Given the description of an element on the screen output the (x, y) to click on. 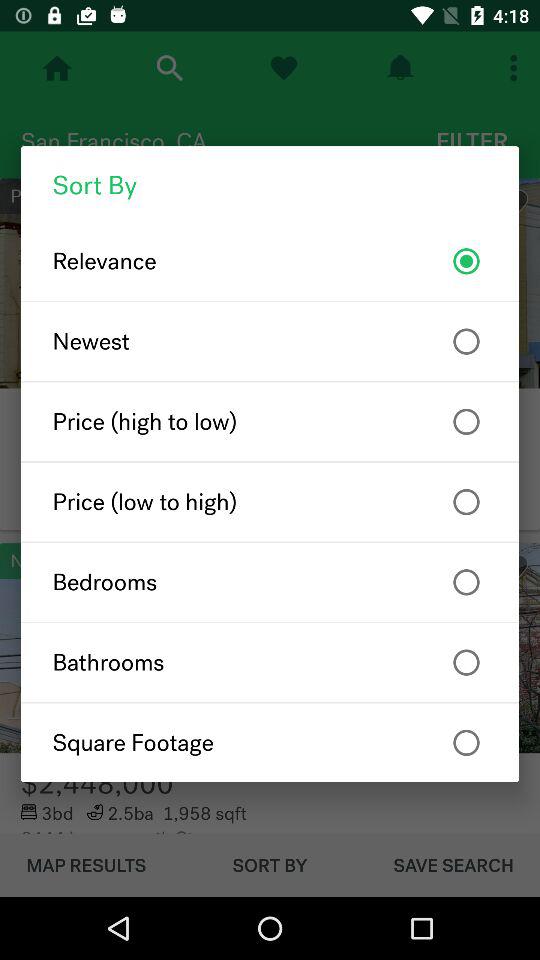
press the icon below bedrooms item (270, 662)
